Given the description of an element on the screen output the (x, y) to click on. 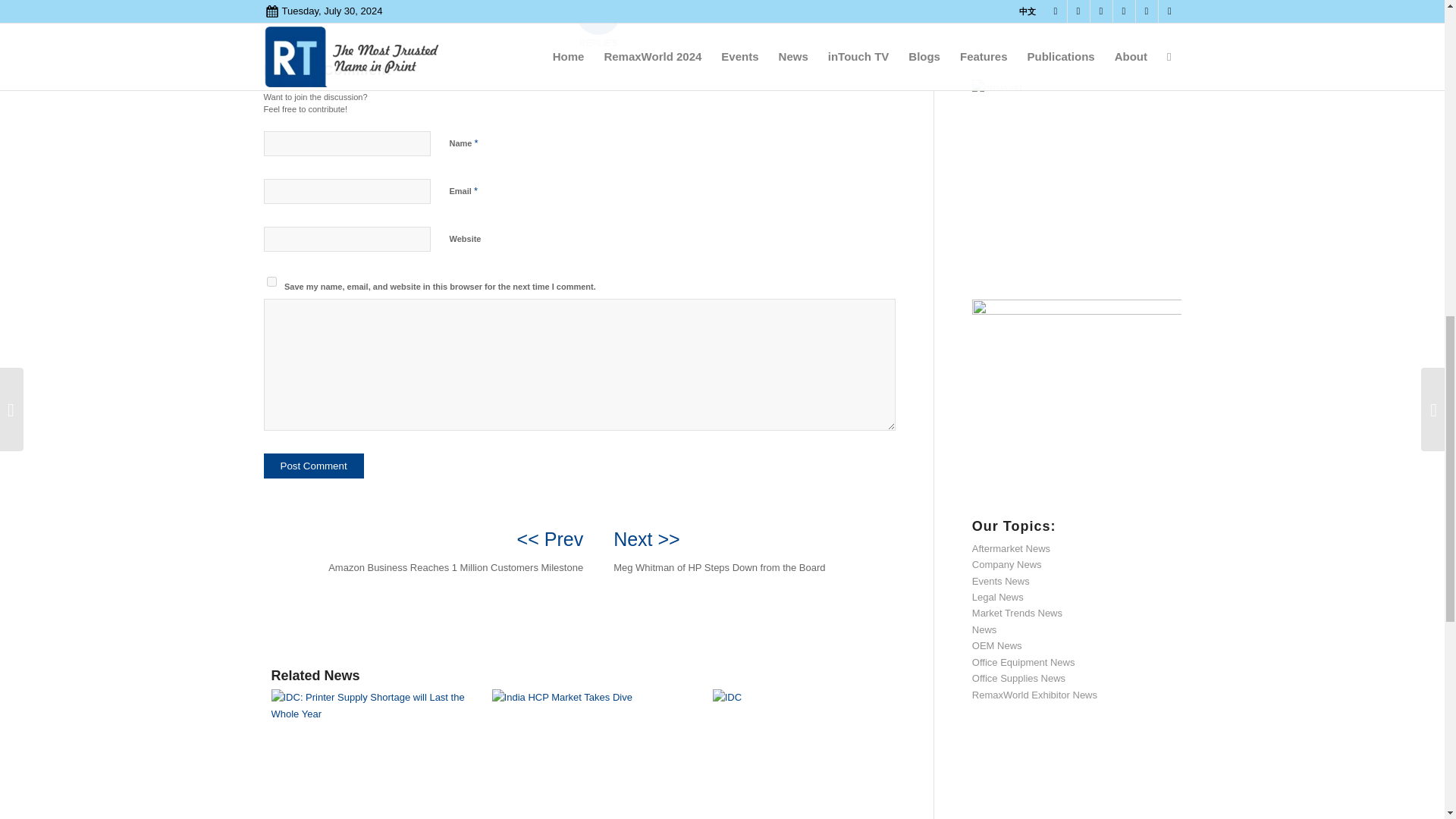
Post Comment (313, 465)
yes (271, 281)
